Given the description of an element on the screen output the (x, y) to click on. 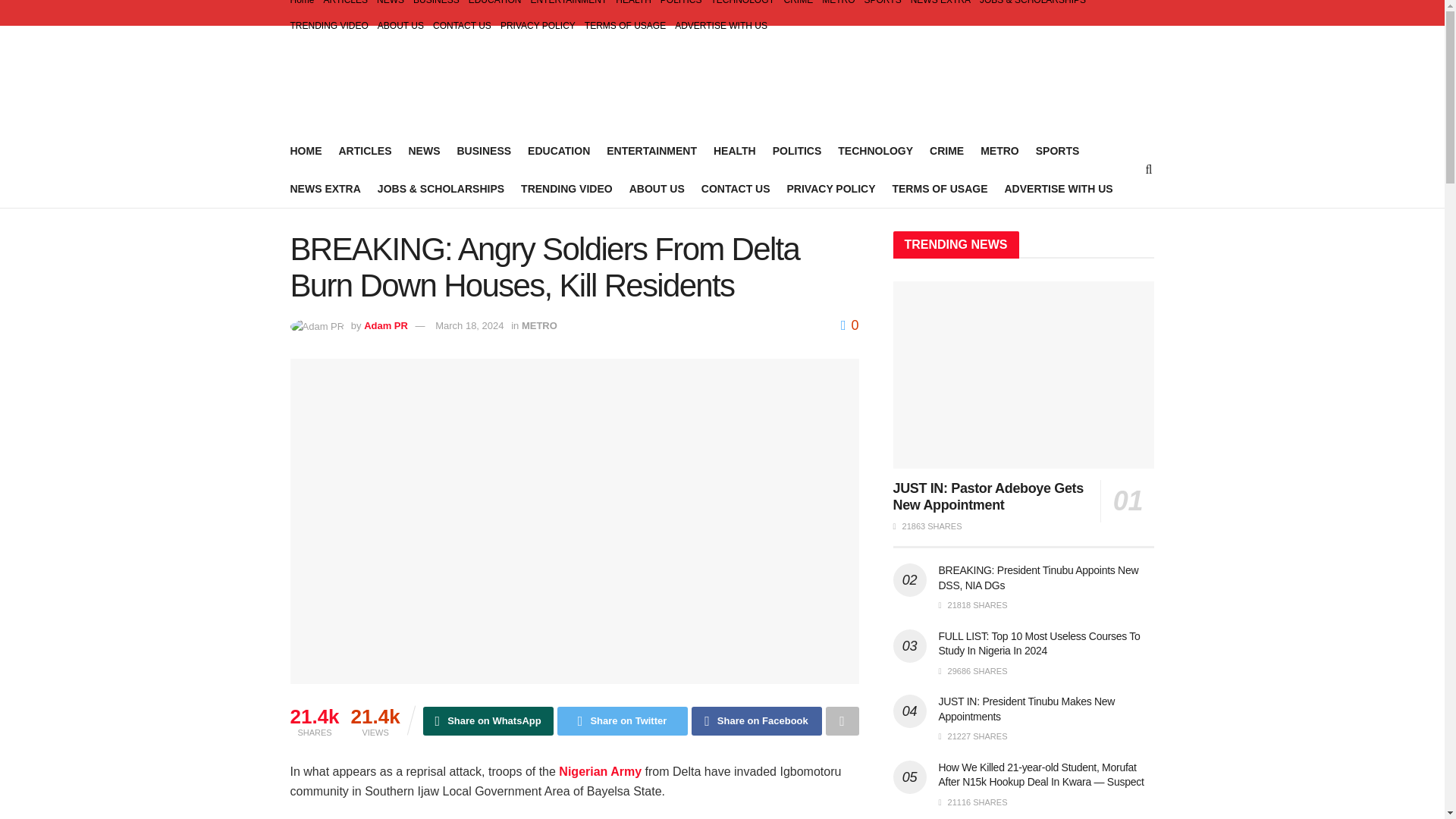
TERMS OF USAGE (939, 188)
SPORTS (1057, 150)
TECHNOLOGY (742, 6)
CRIME (946, 150)
NEWS EXTRA (941, 6)
BUSINESS (436, 6)
SPORTS (882, 6)
ARTICLES (364, 150)
NEWS EXTRA (324, 188)
TRENDING VIDEO (328, 25)
